Given the description of an element on the screen output the (x, y) to click on. 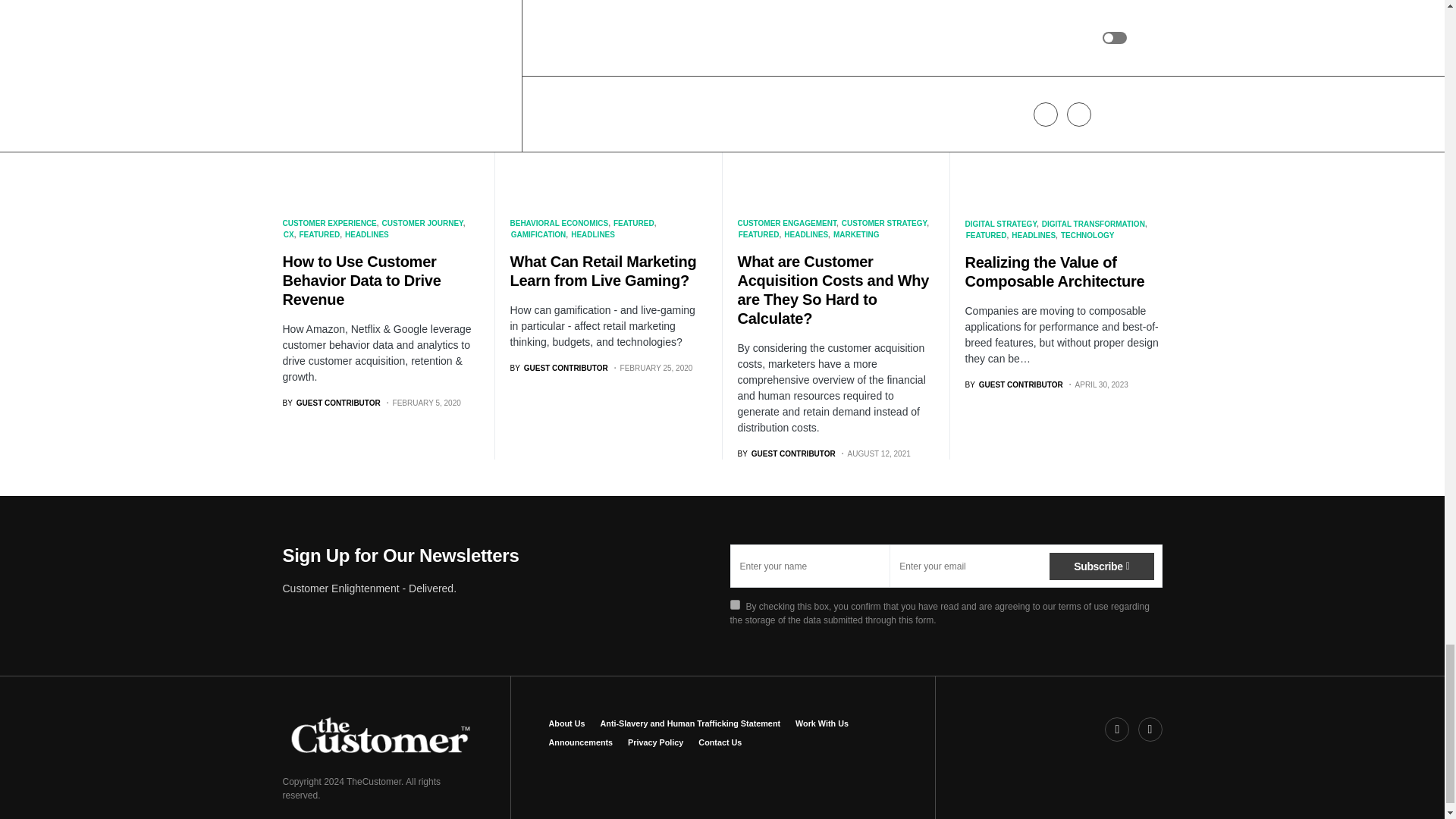
View all posts by Guest Contributor (785, 453)
View all posts by Guest Contributor (1012, 384)
View all posts by Guest Contributor (558, 367)
View all posts by Guest Contributor (331, 402)
on (734, 604)
